Given the description of an element on the screen output the (x, y) to click on. 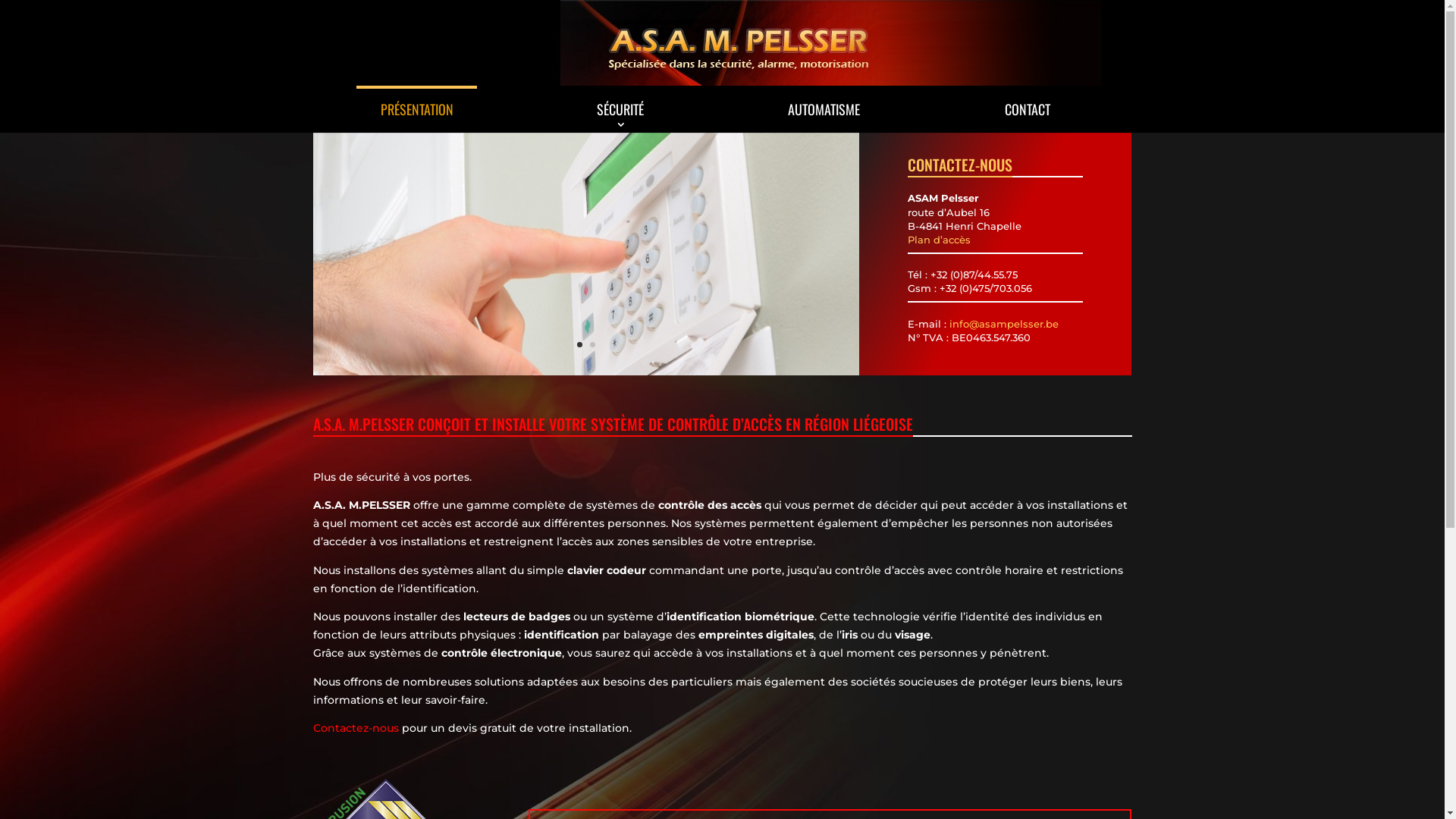
1 Element type: text (578, 344)
Contactez-nous Element type: text (355, 727)
34 Element type: hover (585, 371)
2 Element type: text (592, 344)
info@asampelsser.be Element type: text (1003, 323)
AUTOMATISME Element type: text (823, 108)
CONTACT Element type: text (1027, 108)
